Given the description of an element on the screen output the (x, y) to click on. 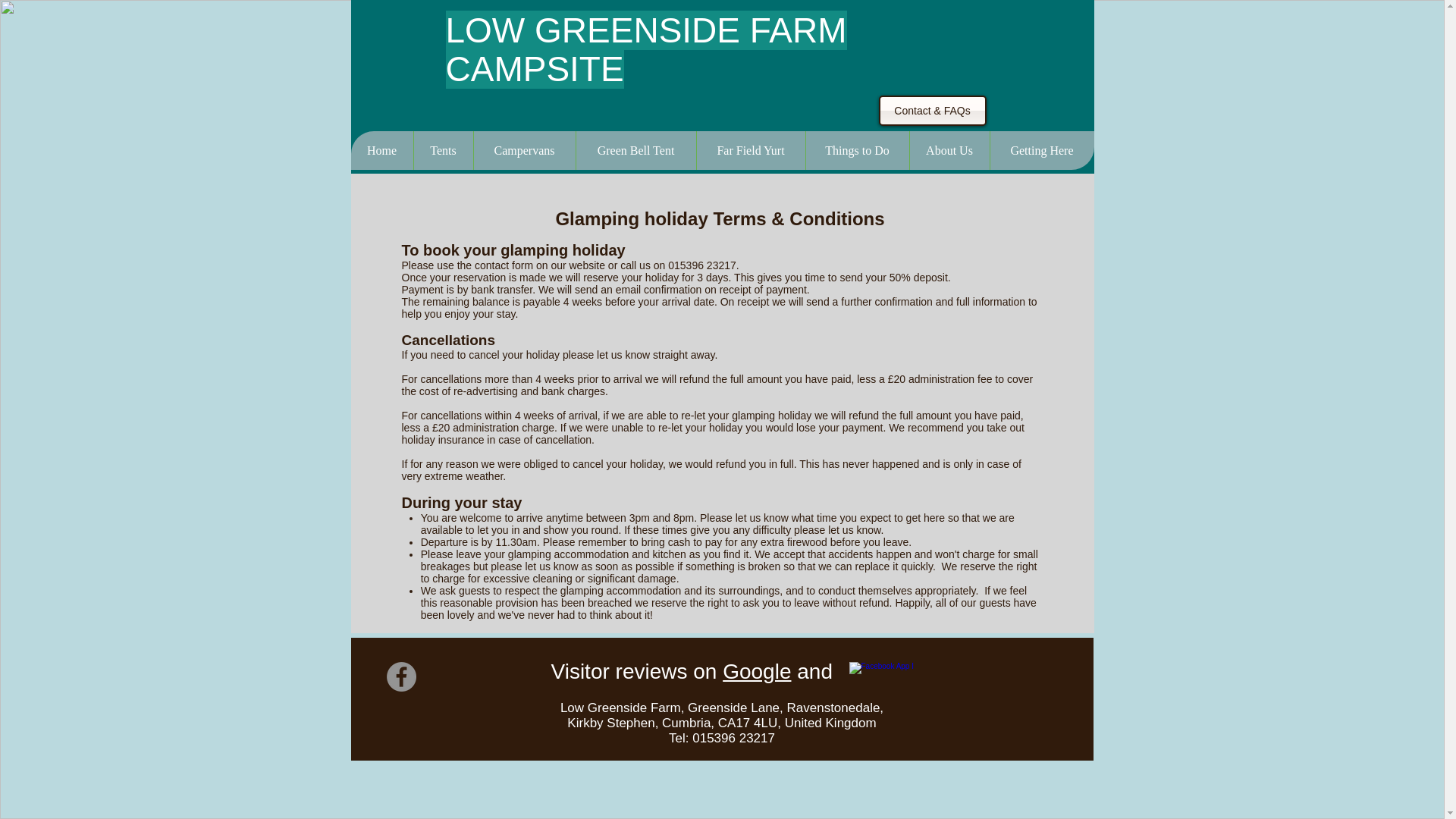
Home (381, 150)
Getting Here (1040, 150)
Things to Do (856, 150)
Visitor reviews on Google and  (694, 671)
About Us (948, 150)
